Given the description of an element on the screen output the (x, y) to click on. 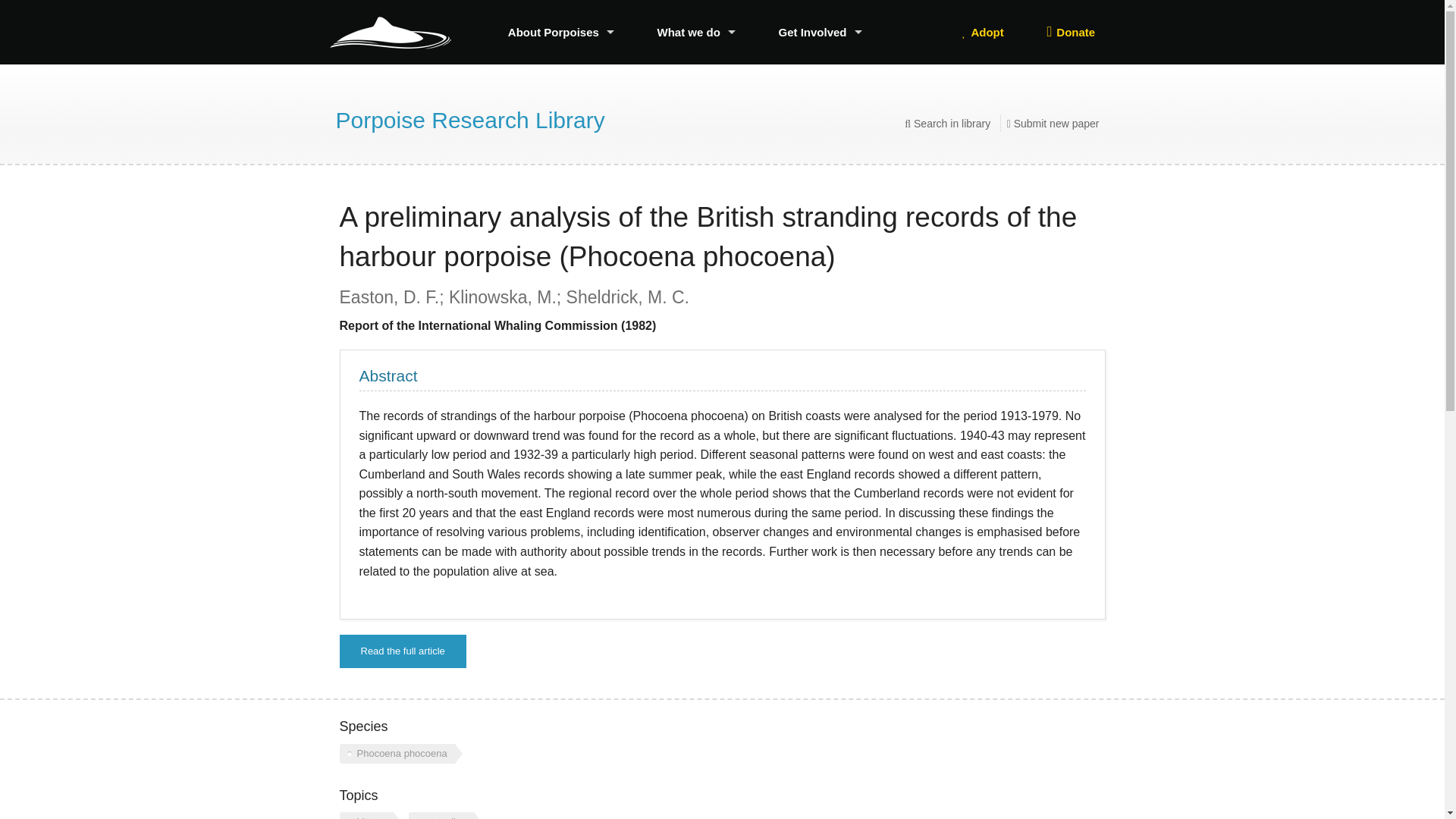
Harbour Porpoise (561, 81)
Donate to Porpoise Conservation (1070, 32)
Spectacled Porpoise (561, 149)
About Porpoises (561, 32)
Adopt a Porpoise (982, 32)
